Given the description of an element on the screen output the (x, y) to click on. 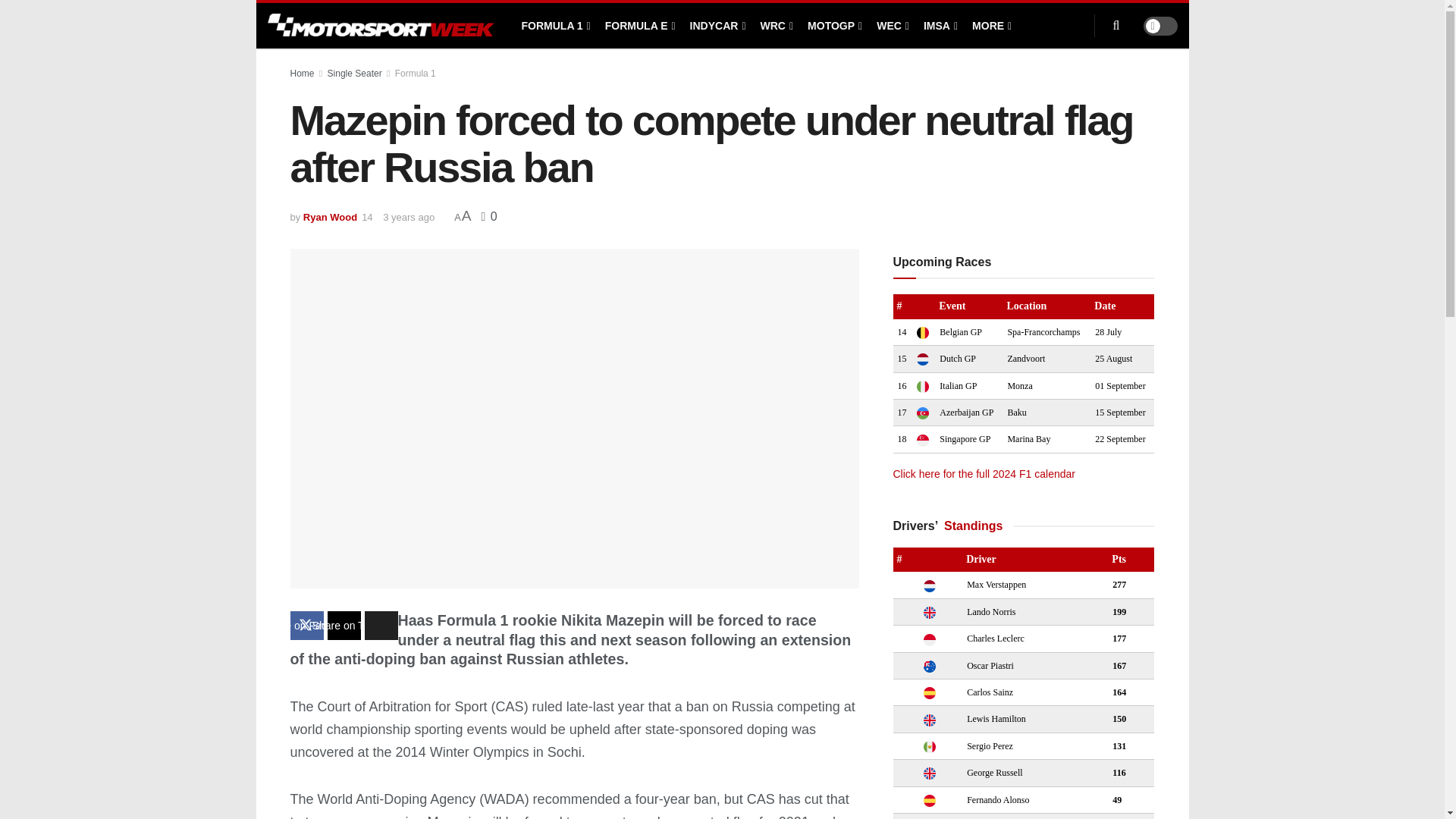
FORMULA 1 (554, 25)
MOTOGP (834, 25)
MORE (990, 25)
IMSA (939, 25)
FORMULA E (638, 25)
WRC (776, 25)
INDYCAR (717, 25)
WEC (891, 25)
